Given the description of an element on the screen output the (x, y) to click on. 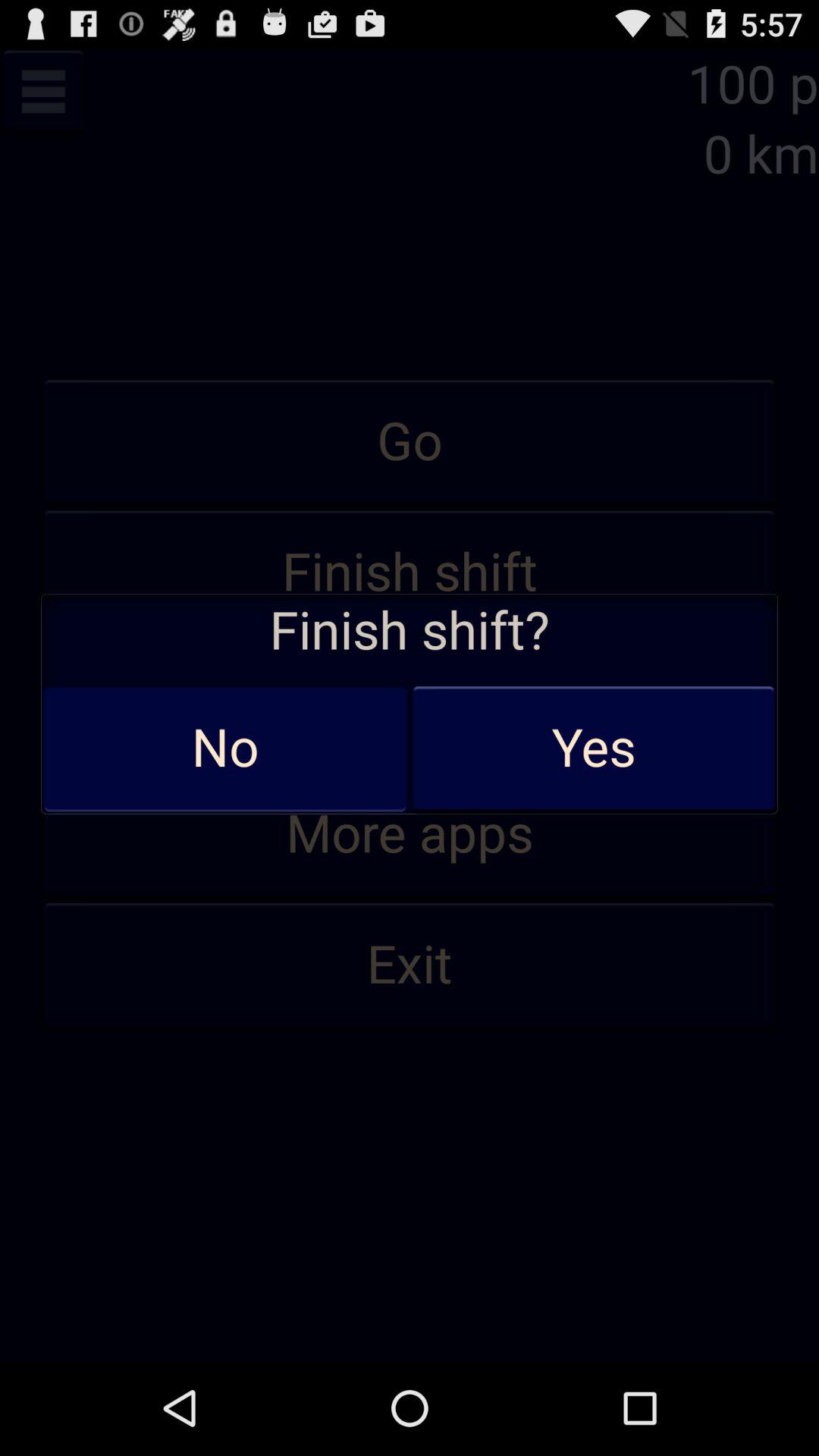
tap exit app (409, 965)
